Given the description of an element on the screen output the (x, y) to click on. 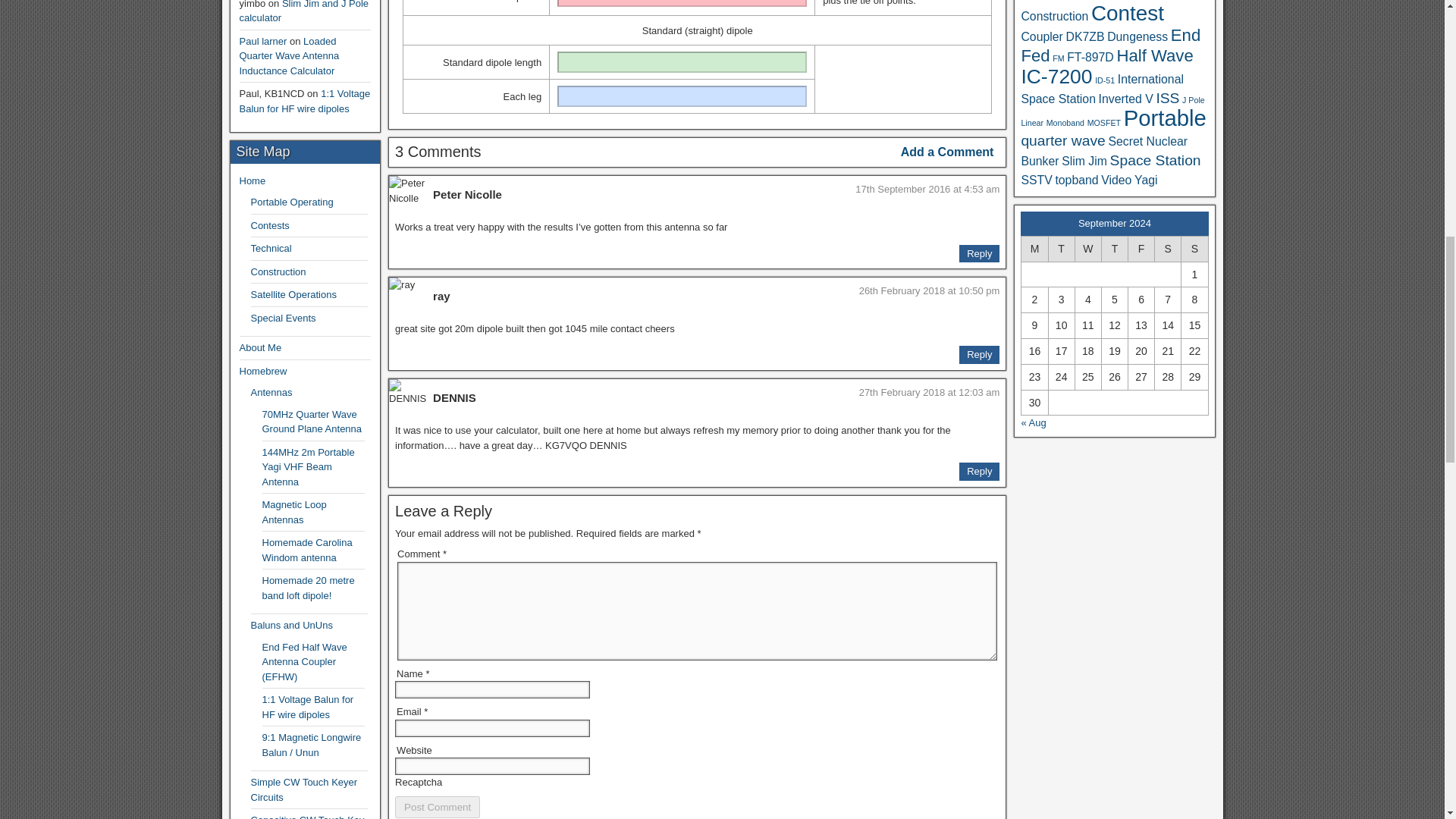
Sunday (1194, 248)
Post Comment (437, 807)
Saturday (1167, 248)
Friday (1141, 248)
Wednesday (1087, 248)
Monday (1035, 248)
Thursday (1113, 248)
Tuesday (1061, 248)
